Given the description of an element on the screen output the (x, y) to click on. 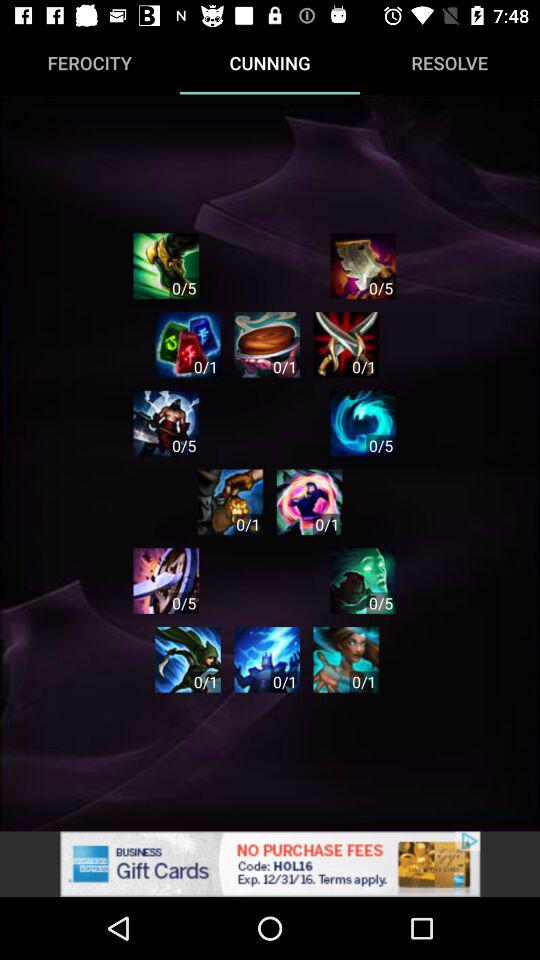
go to option (346, 659)
